Given the description of an element on the screen output the (x, y) to click on. 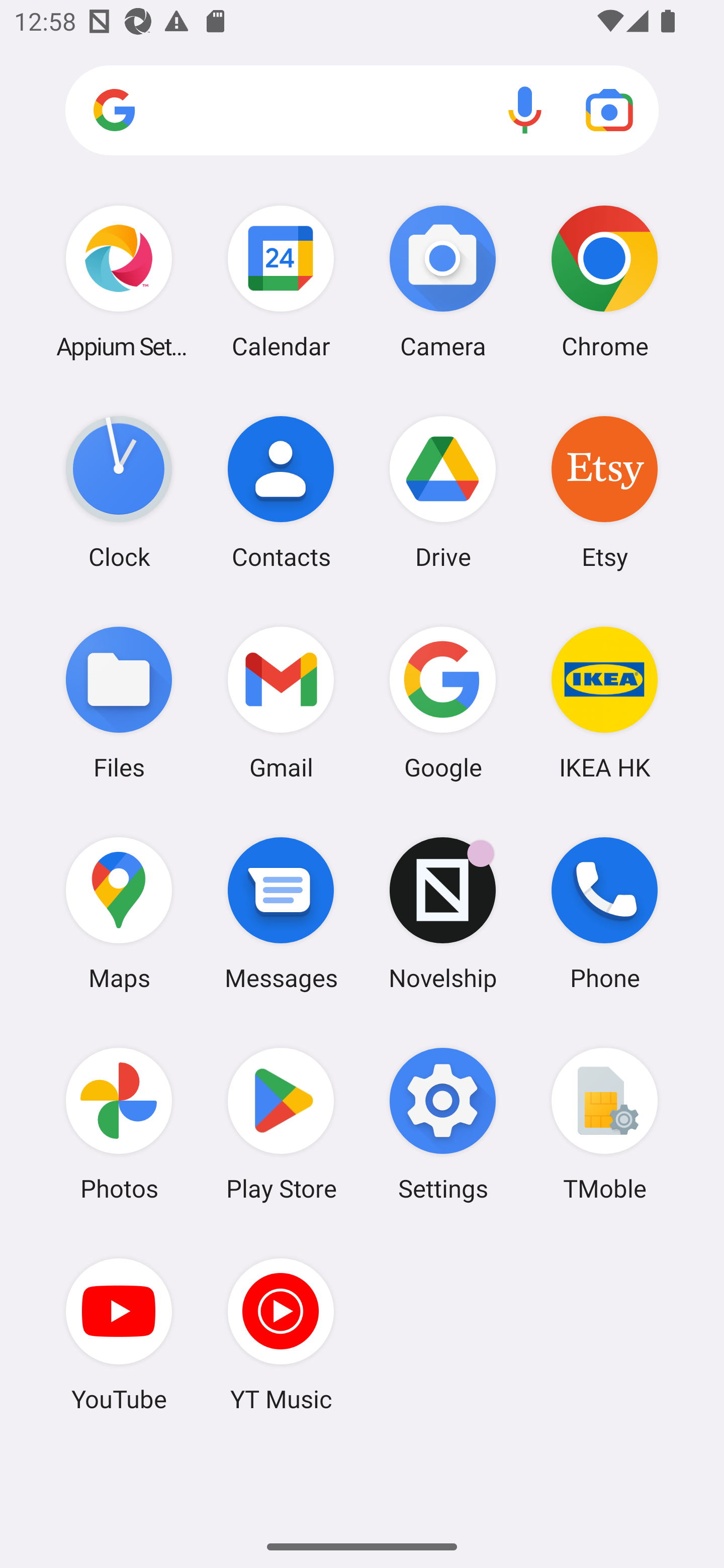
Search apps, web and more (361, 110)
Voice search (524, 109)
Google Lens (608, 109)
Appium Settings (118, 281)
Calendar (280, 281)
Camera (443, 281)
Chrome (604, 281)
Clock (118, 492)
Contacts (280, 492)
Drive (443, 492)
Etsy (604, 492)
Files (118, 702)
Gmail (280, 702)
Google (443, 702)
IKEA HK (604, 702)
Maps (118, 913)
Messages (280, 913)
Novelship Novelship has 7 notifications (443, 913)
Phone (604, 913)
Photos (118, 1124)
Play Store (280, 1124)
Settings (443, 1124)
TMoble (604, 1124)
YouTube (118, 1334)
YT Music (280, 1334)
